Given the description of an element on the screen output the (x, y) to click on. 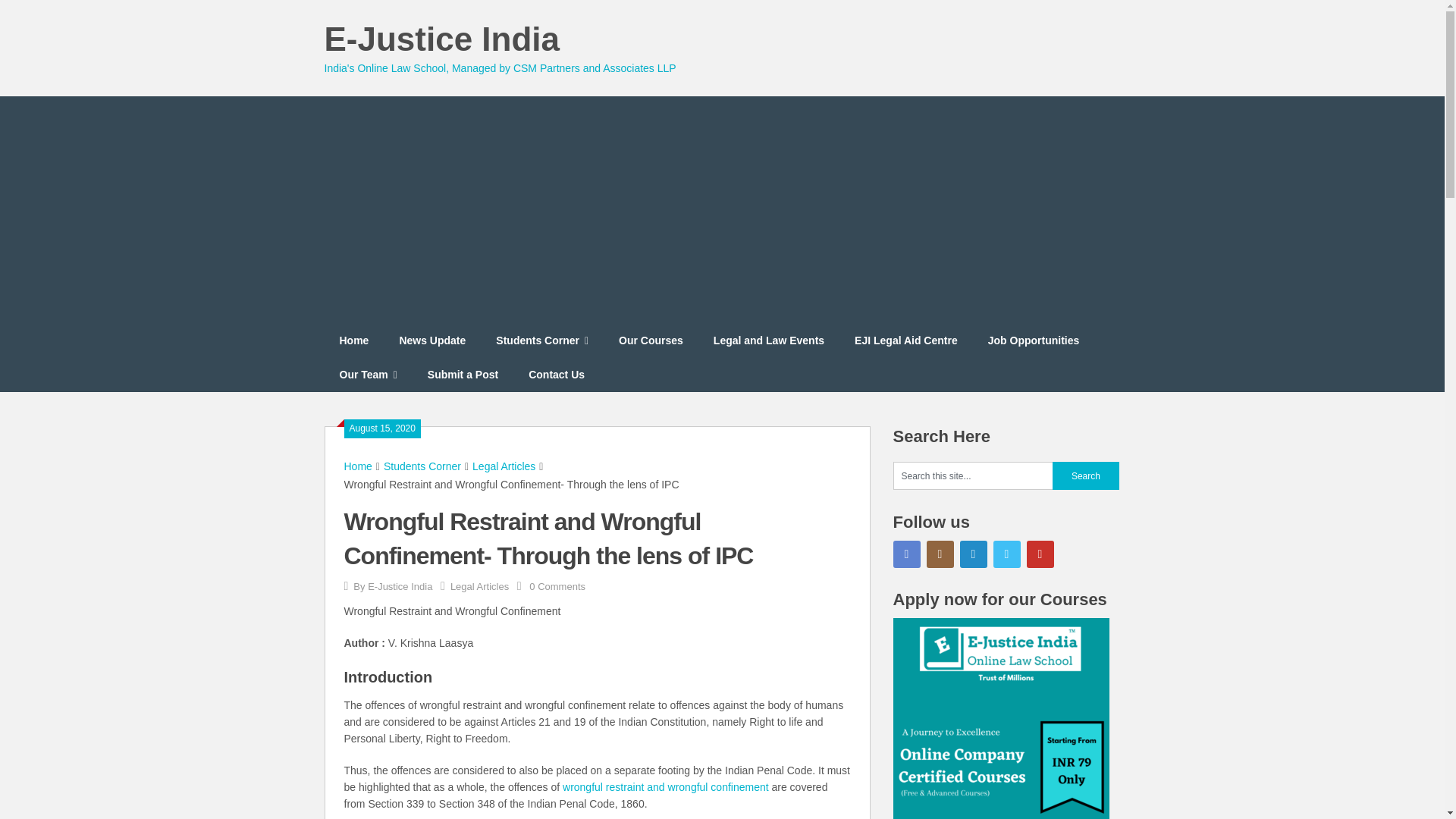
E-Justice India (400, 586)
Our Team (368, 374)
Search this site... (972, 475)
Twitter (1006, 554)
EJI Legal Aid Centre (906, 340)
Legal and Law Events (769, 340)
wrongful restraint and wrongful confinement (665, 787)
Home (357, 466)
News Update (432, 340)
